Given the description of an element on the screen output the (x, y) to click on. 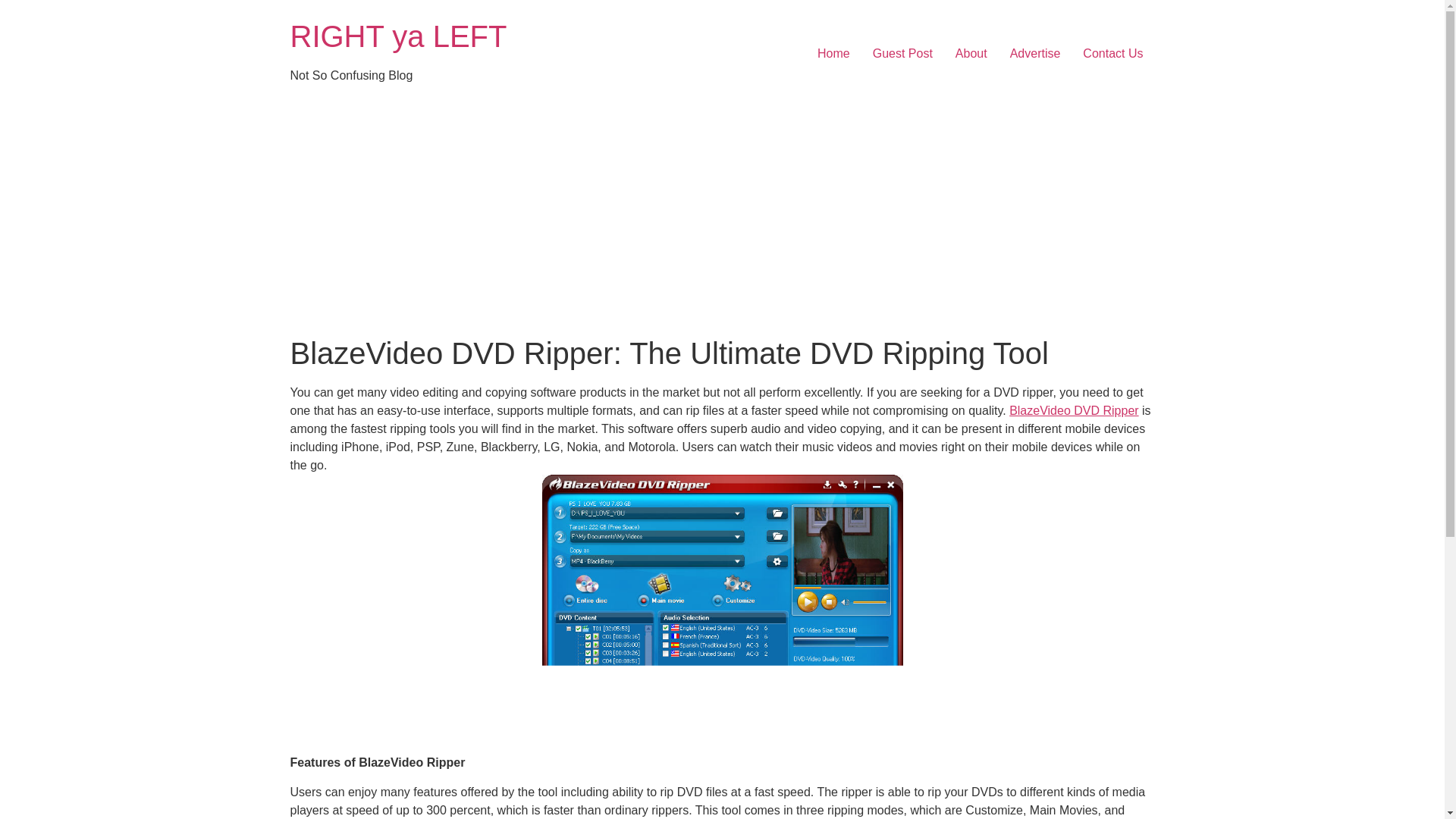
Contact Us (1112, 53)
Home (397, 36)
RIGHT ya LEFT (397, 36)
Home (833, 53)
About (970, 53)
BlazeVideo DVD Ripper (1073, 410)
Guest Post (902, 53)
Advertise (1034, 53)
